Given the description of an element on the screen output the (x, y) to click on. 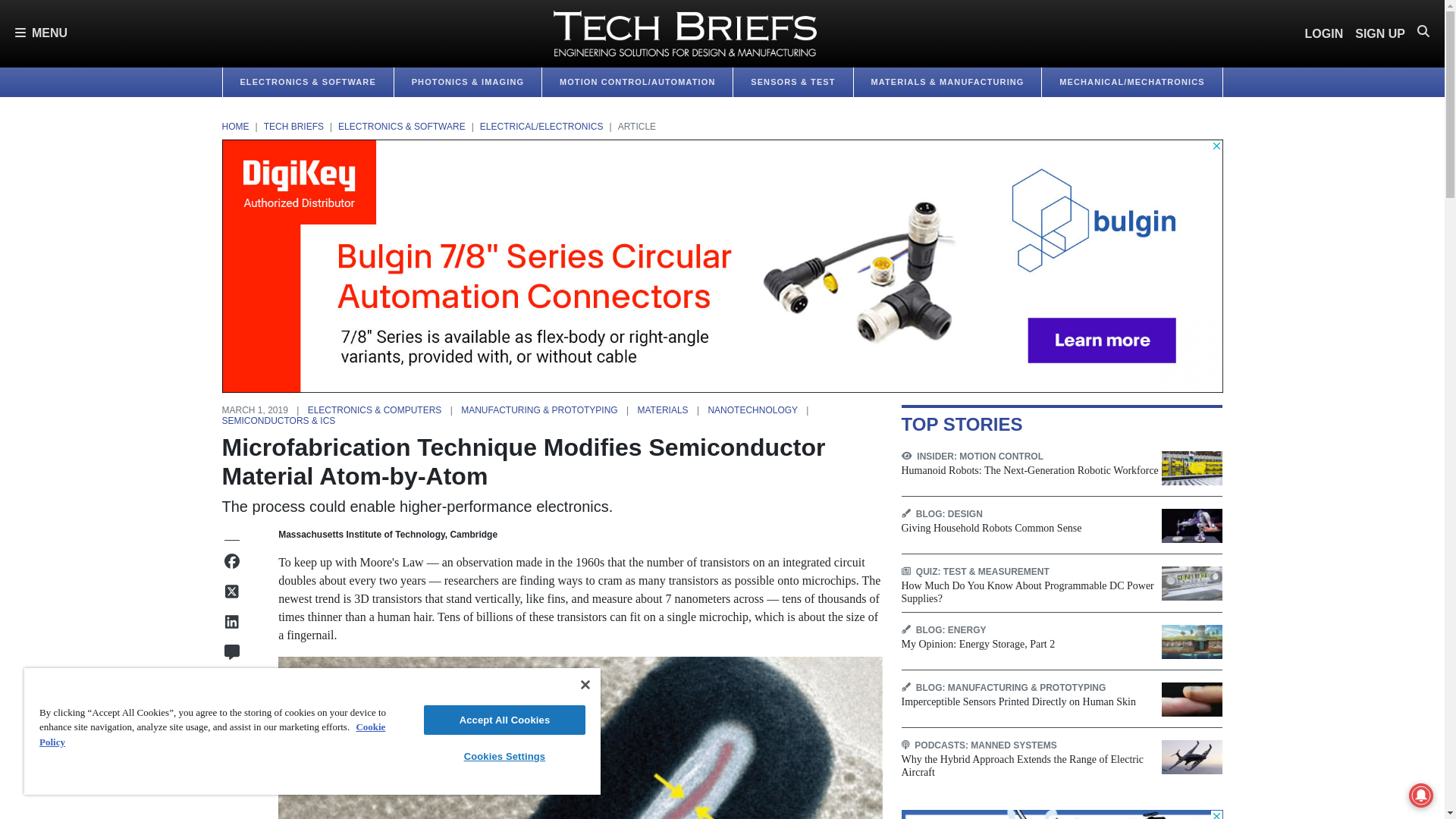
MENU (41, 33)
SIGN UP (1379, 32)
LOGIN (1323, 32)
3rd party ad content (1062, 814)
